Given the description of an element on the screen output the (x, y) to click on. 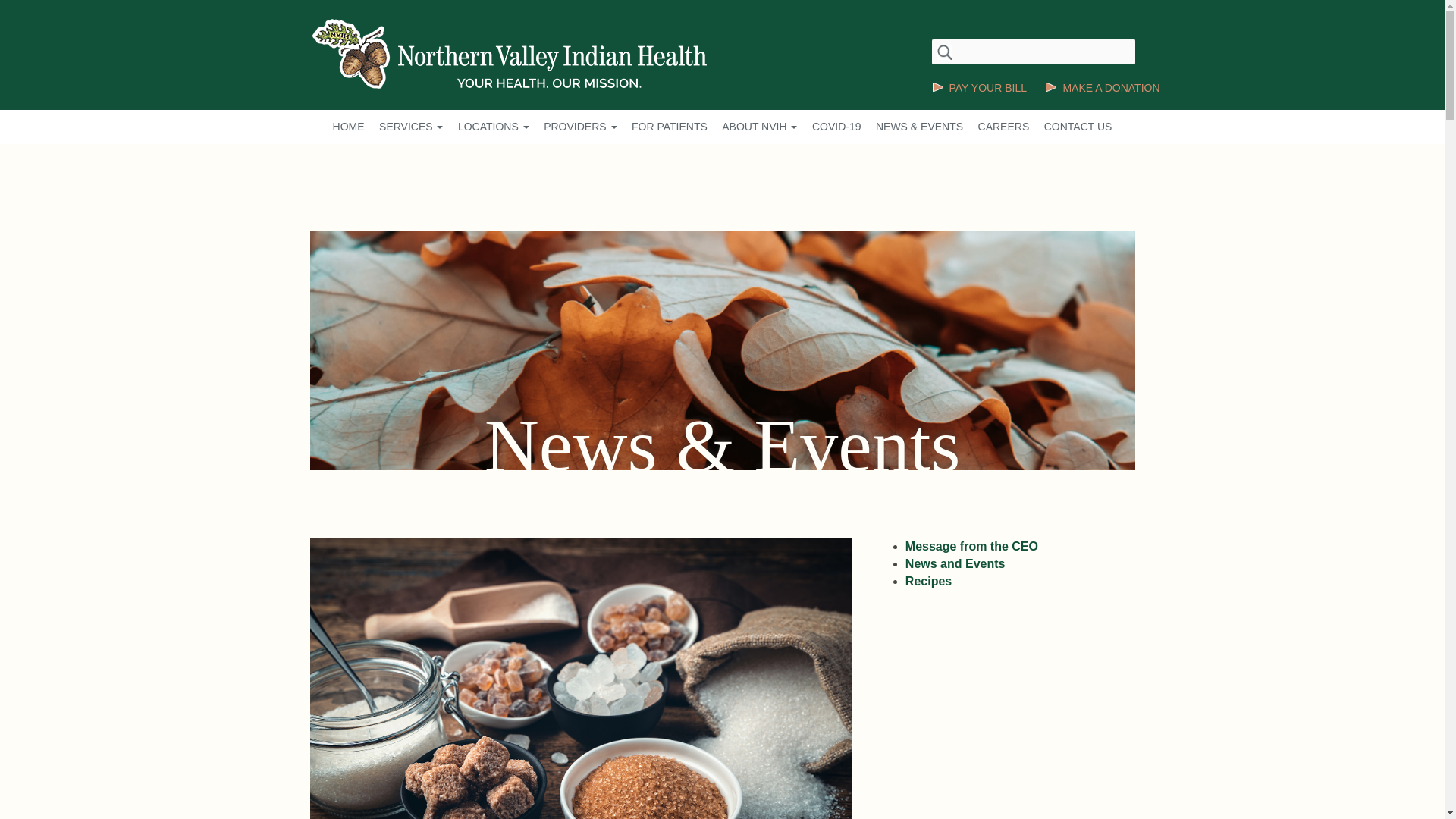
HOME (349, 126)
SERVICES (410, 126)
MAKE A DONATION (1101, 87)
PAY YOUR BILL (978, 87)
Home (349, 126)
Services (410, 126)
LOCATIONS (493, 126)
Locations (493, 126)
PROVIDERS (579, 126)
FOR PATIENTS (669, 126)
ABOUT NVIH (759, 126)
